Given the description of an element on the screen output the (x, y) to click on. 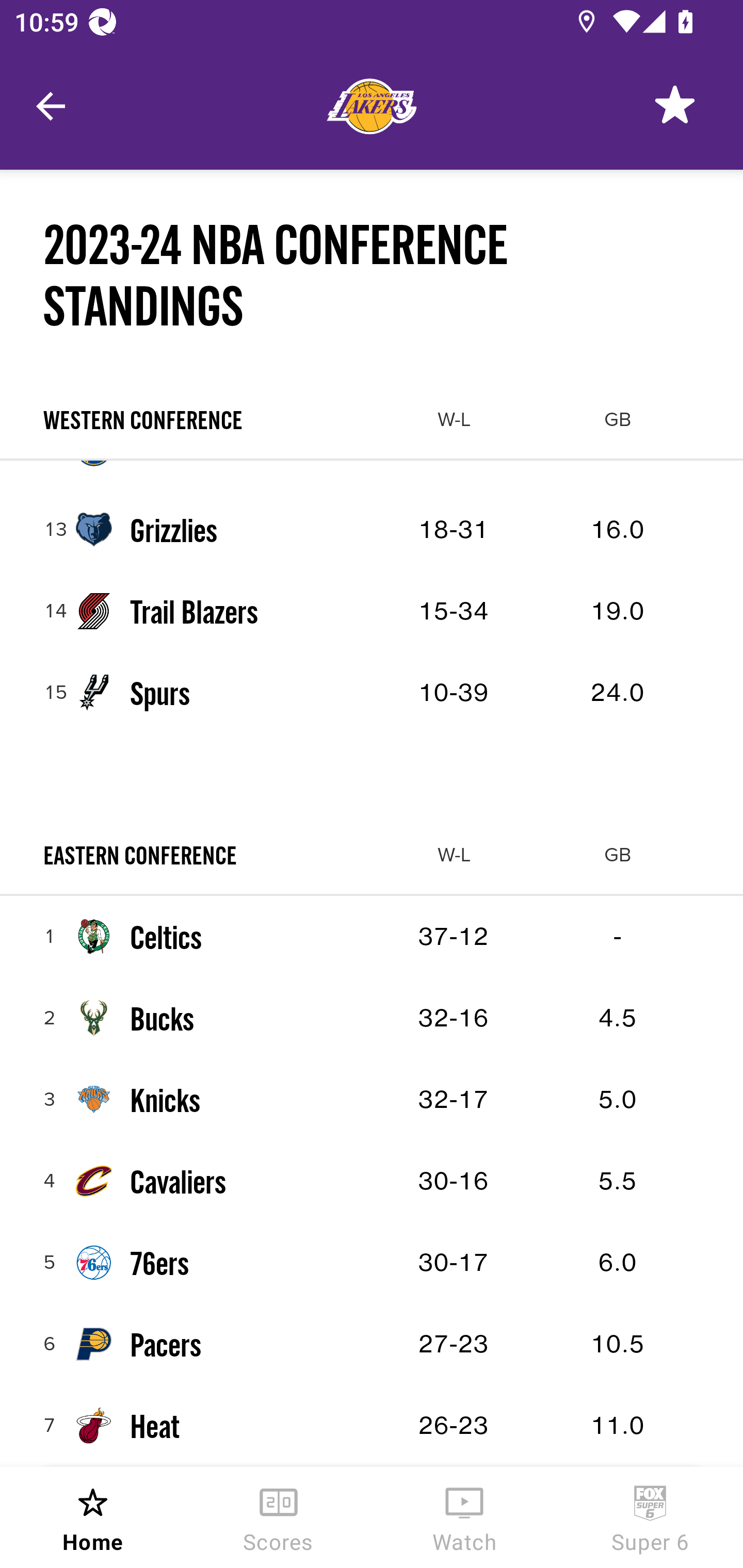
Navigate up (50, 106)
13 Grizzlies 18-31 16.0 (371, 529)
14 Trail Blazers 15-34 19.0 (371, 611)
15 Spurs 10-39 24.0 (371, 692)
EASTERN CONFERENCE W-L GB (371, 855)
1 Celtics 37-12 - (371, 936)
2 Bucks 32-16 4.5 (371, 1018)
3 Knicks 32-17 5.0 (371, 1098)
4 Cavaliers 30-16 5.5 (371, 1180)
5 76ers 30-17 6.0 (371, 1262)
6 Pacers 27-23 10.5 (371, 1343)
7 Heat 26-23 11.0 (371, 1425)
Scores (278, 1517)
Watch (464, 1517)
Super 6 (650, 1517)
